Given the description of an element on the screen output the (x, y) to click on. 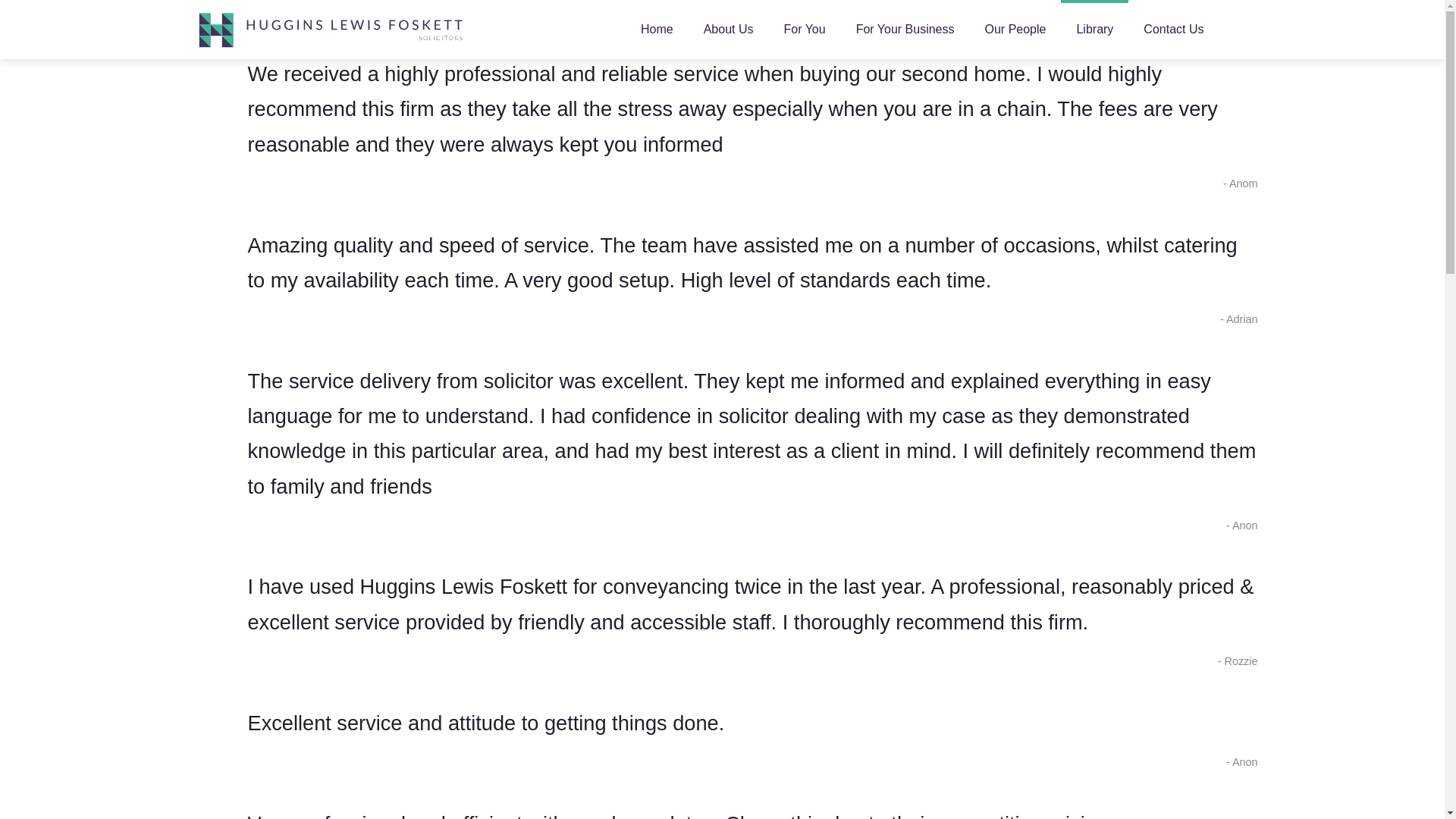
Our People (1015, 29)
Home (657, 29)
For You (804, 29)
Library (1094, 29)
For Your Business (905, 29)
About Us (728, 29)
Contact Us (1173, 29)
